Given the description of an element on the screen output the (x, y) to click on. 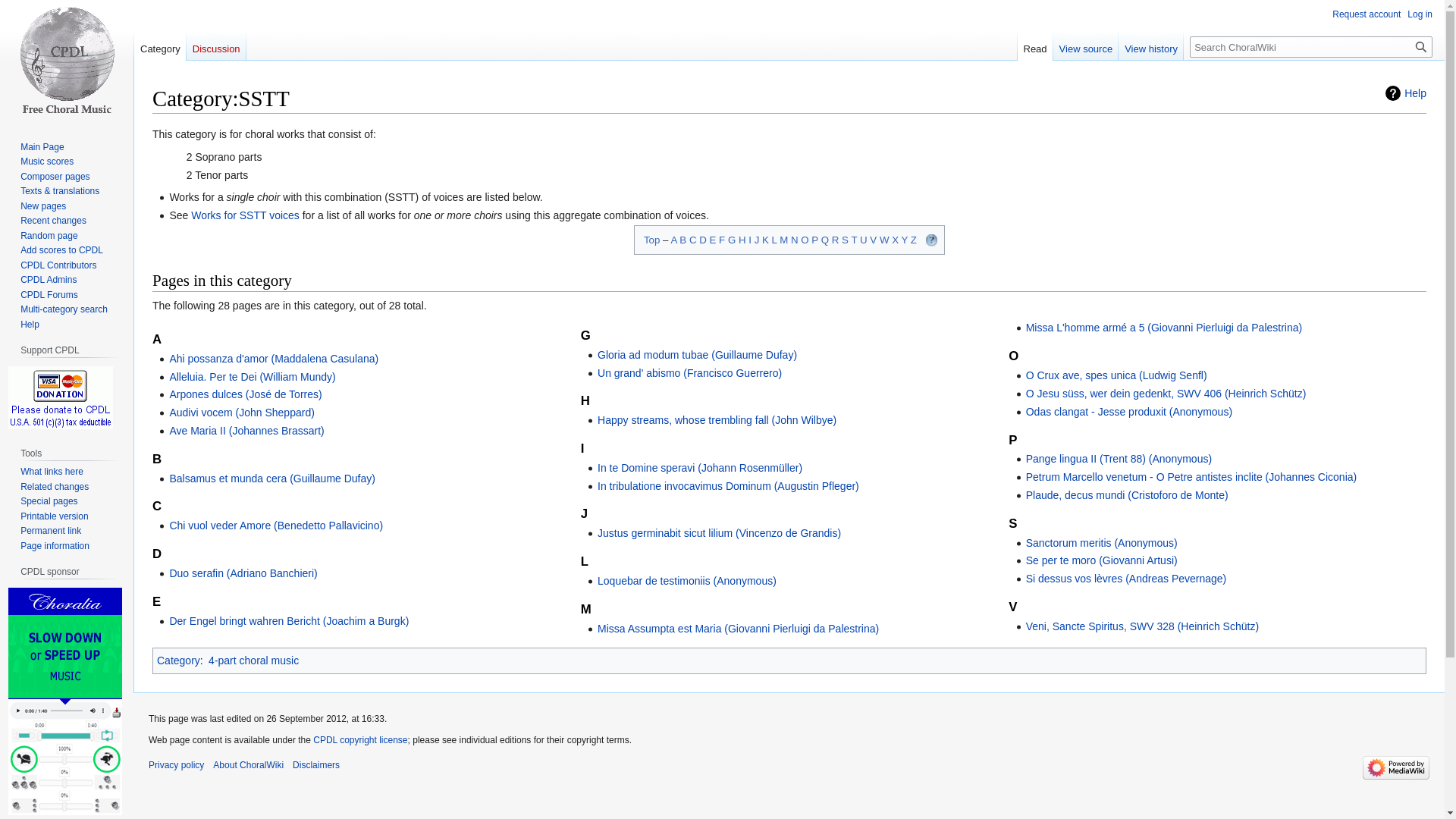
Works for SSTT voices (244, 215)
Help (1406, 92)
ChoralWiki:Works for SSTT voices (244, 215)
Search (1420, 46)
Go (1420, 46)
Help:What is the alphabetical line? (930, 239)
Search (1420, 46)
Go (1420, 46)
Top (651, 239)
